Given the description of an element on the screen output the (x, y) to click on. 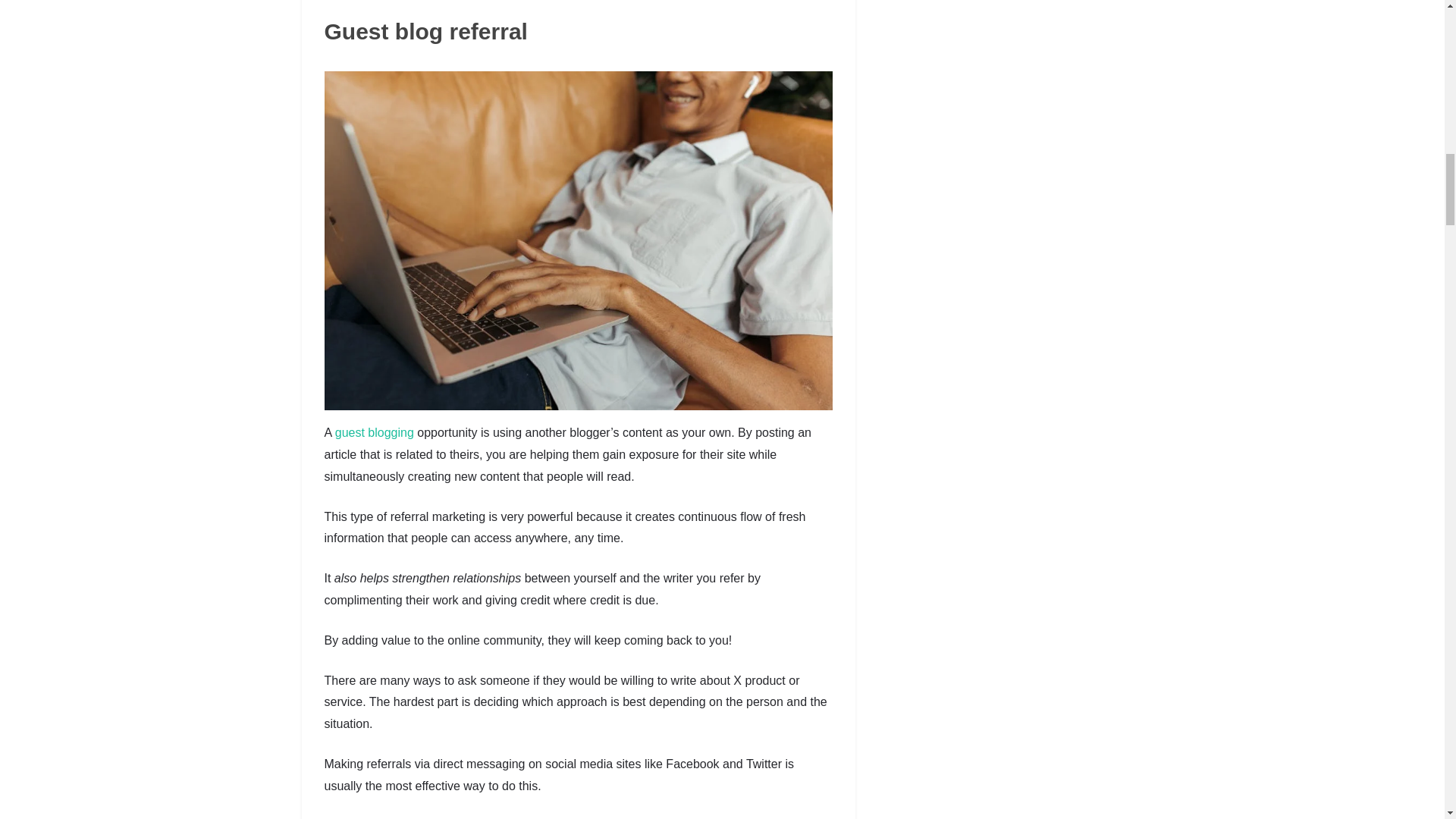
guest blogging (373, 431)
